Given the description of an element on the screen output the (x, y) to click on. 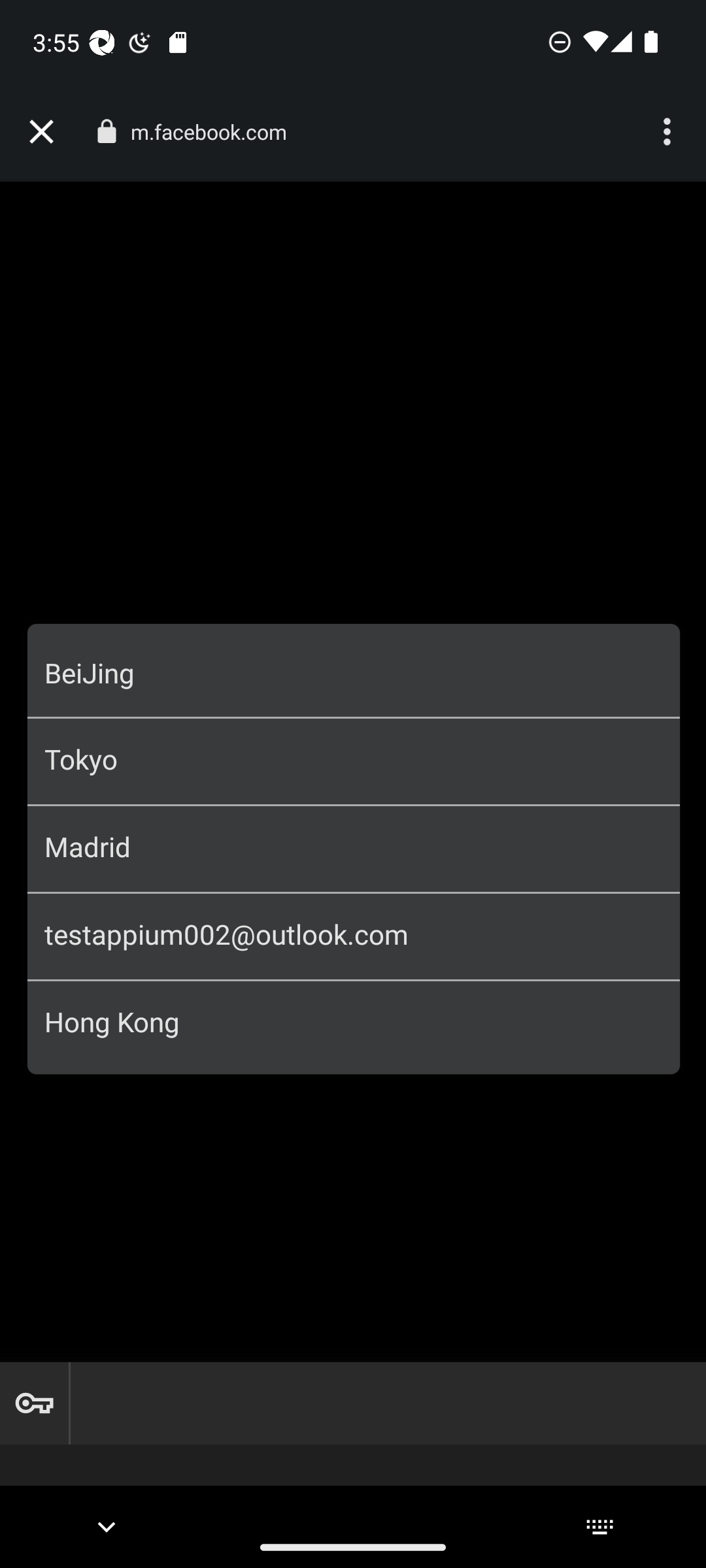
Close tab (41, 131)
More options (669, 131)
Connection is secure (106, 131)
m.facebook.com (215, 131)
facebook (352, 216)
rice (354, 589)
Entrar (354, 754)
Esqueceu a senha? (352, 822)
Criar conta (353, 908)
Agora não (353, 963)
Central de Ajuda (353, 1014)
English (UK) (517, 1193)
中文(香港) (187, 1224)
Bahasa Indonesia (517, 1224)
Español (188, 1255)
Français (France) (518, 1255)
Lista completa de idiomas (518, 1286)
Deutsch (188, 1286)
Show passwords (34, 1403)
